Given the description of an element on the screen output the (x, y) to click on. 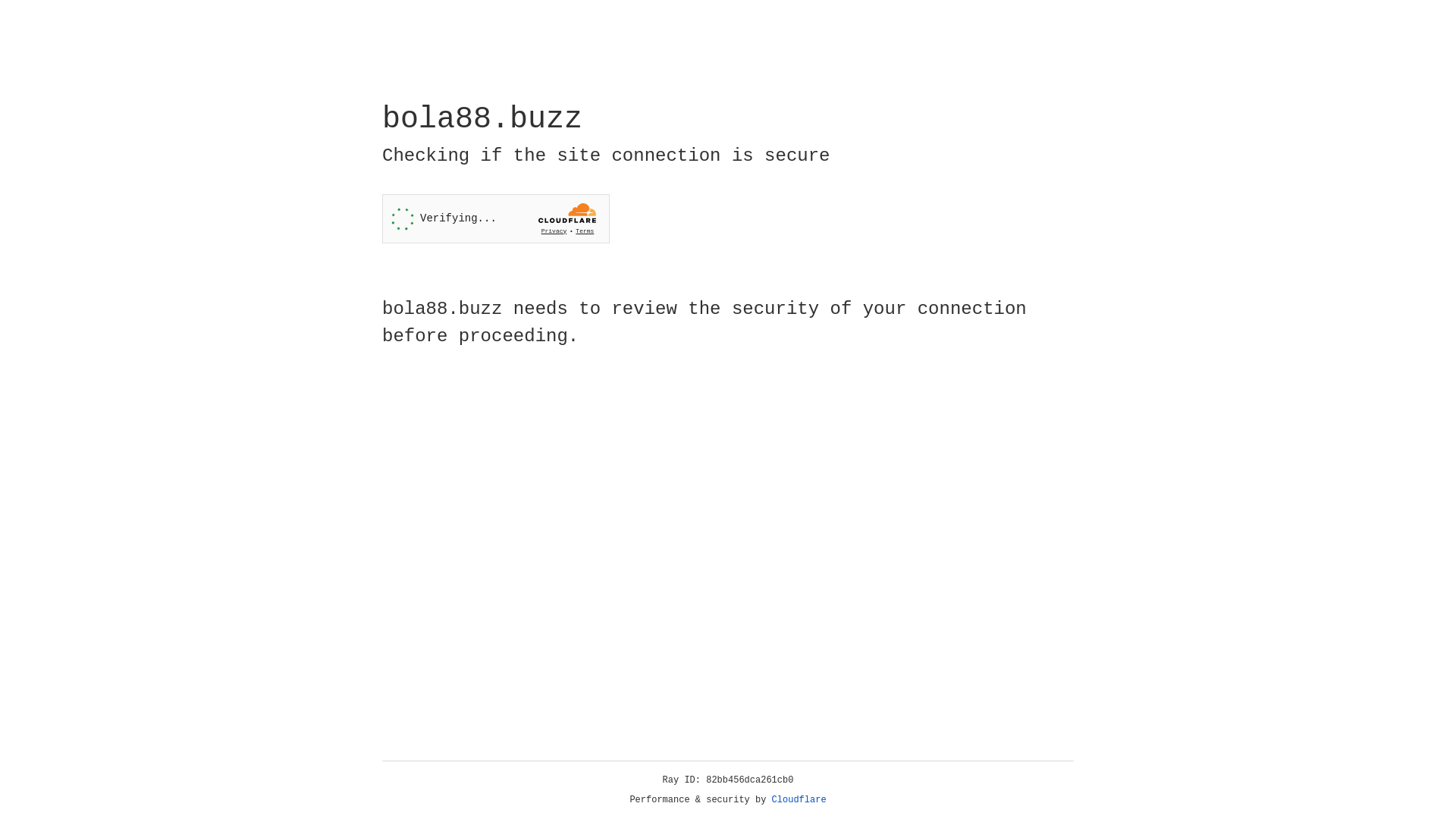
Cloudflare Element type: text (798, 799)
Widget containing a Cloudflare security challenge Element type: hover (495, 218)
